Given the description of an element on the screen output the (x, y) to click on. 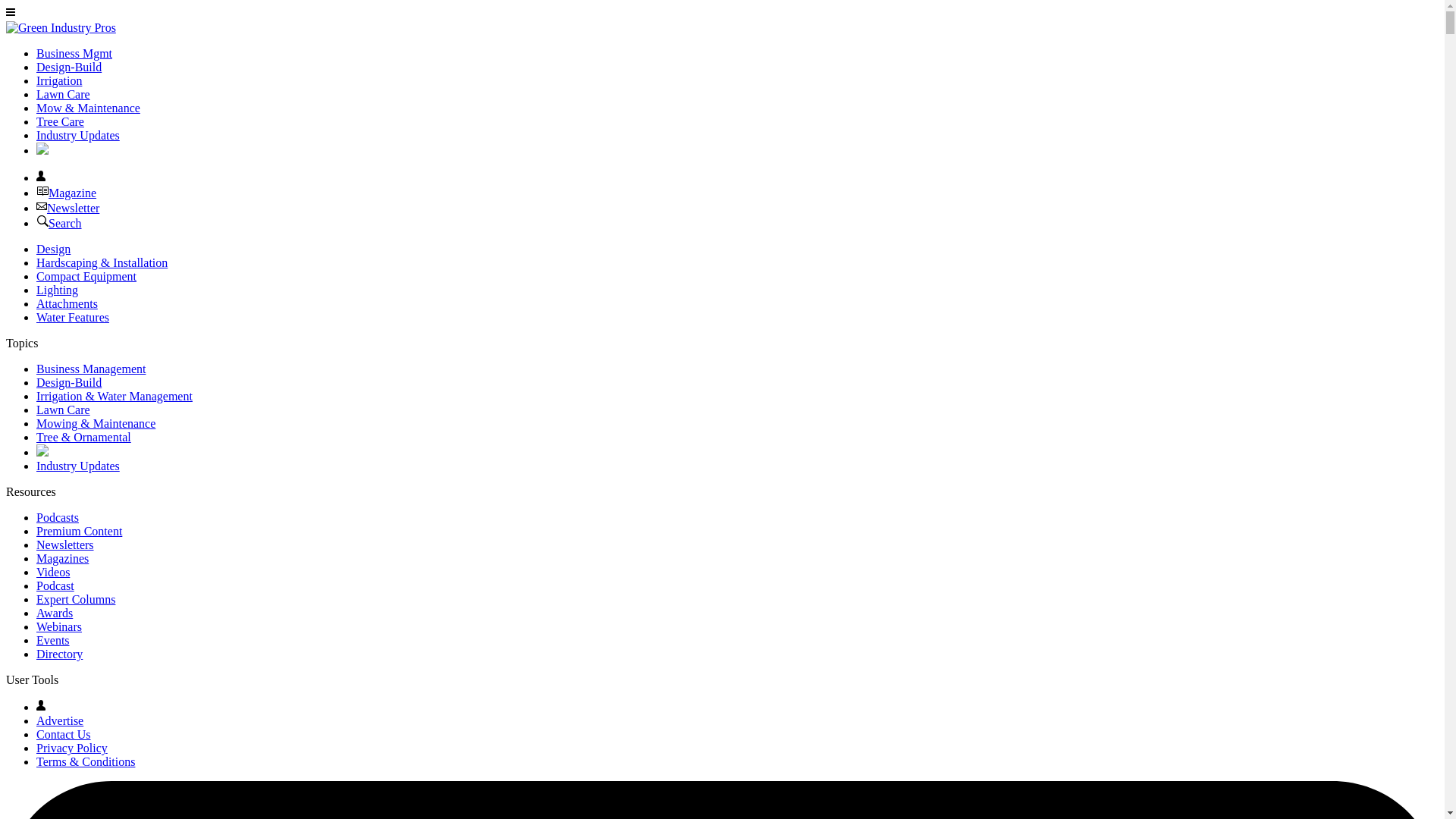
Design (52, 248)
Webinars (58, 626)
Magazine (42, 192)
Tree Care (60, 121)
Events (52, 640)
Videos (52, 571)
Industry Updates (77, 134)
Newsletters (65, 544)
Lighting (57, 289)
Business Management (90, 368)
Attachments (66, 303)
Magazine (66, 192)
Business Mgmt (74, 52)
Search (58, 223)
Design-Build (68, 66)
